Given the description of an element on the screen output the (x, y) to click on. 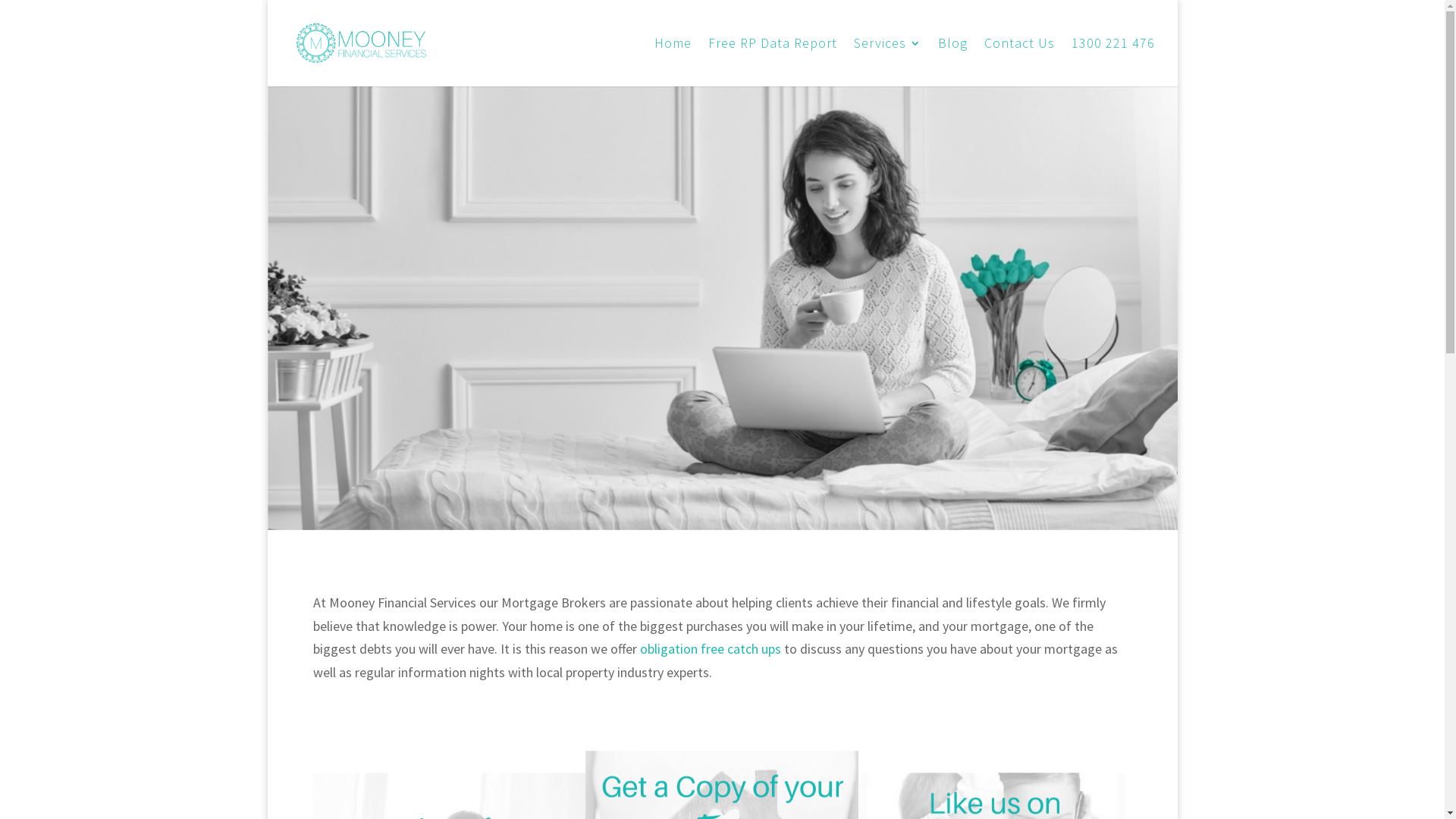
1300 221 476 Element type: text (1112, 61)
obligation free catch ups Element type: text (710, 648)
Home Element type: text (671, 61)
Contact Us Element type: text (1019, 61)
Services Element type: text (887, 61)
Free RP Data Report Element type: text (772, 61)
Blog Element type: text (951, 61)
